Given the description of an element on the screen output the (x, y) to click on. 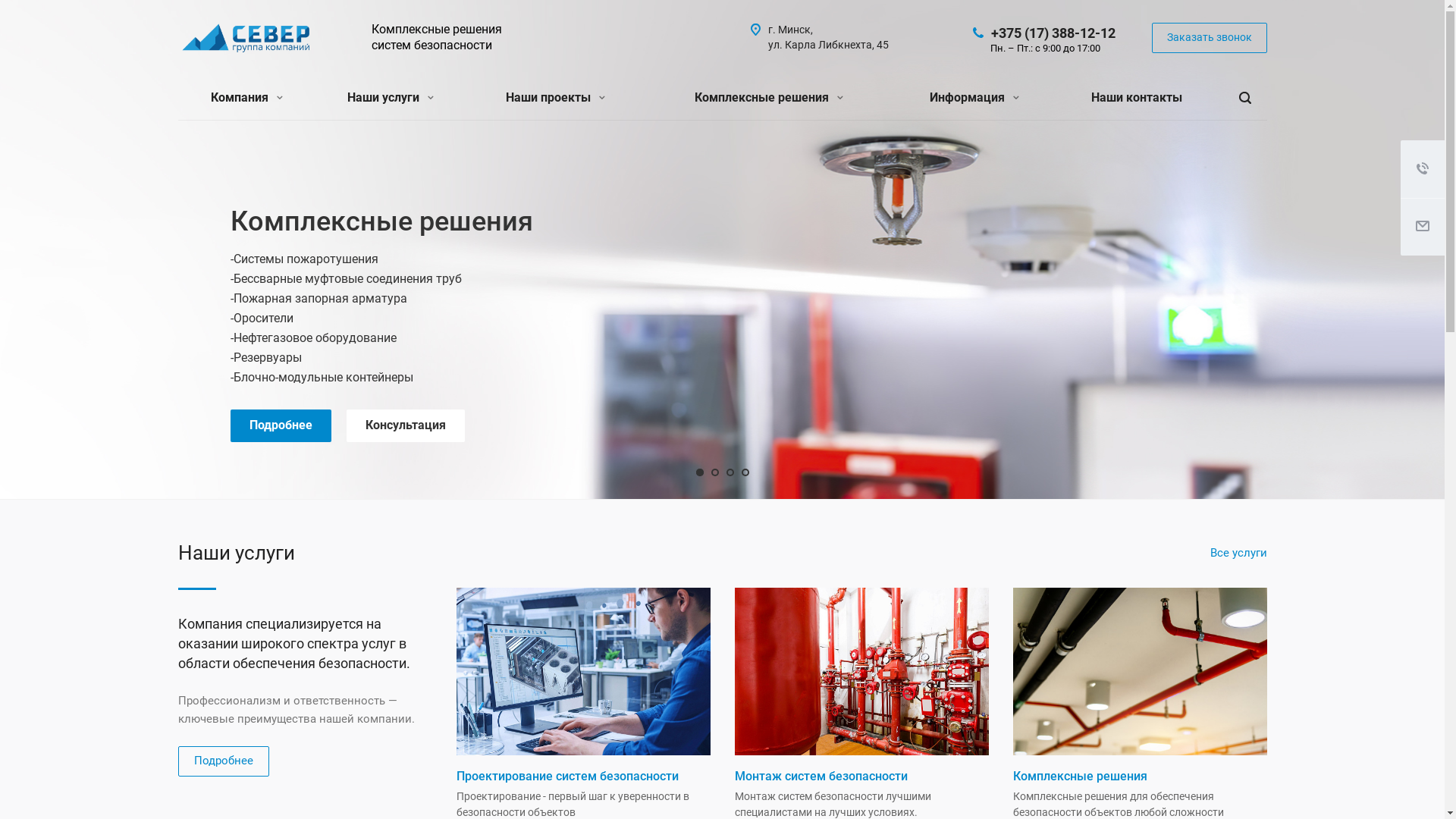
4 Element type: text (745, 472)
2 Element type: text (714, 472)
+375 (17) 388-12-12 Element type: text (1052, 32)
3 Element type: text (730, 472)
1 Element type: text (699, 472)
severgroup.by Element type: hover (246, 38)
